Given the description of an element on the screen output the (x, y) to click on. 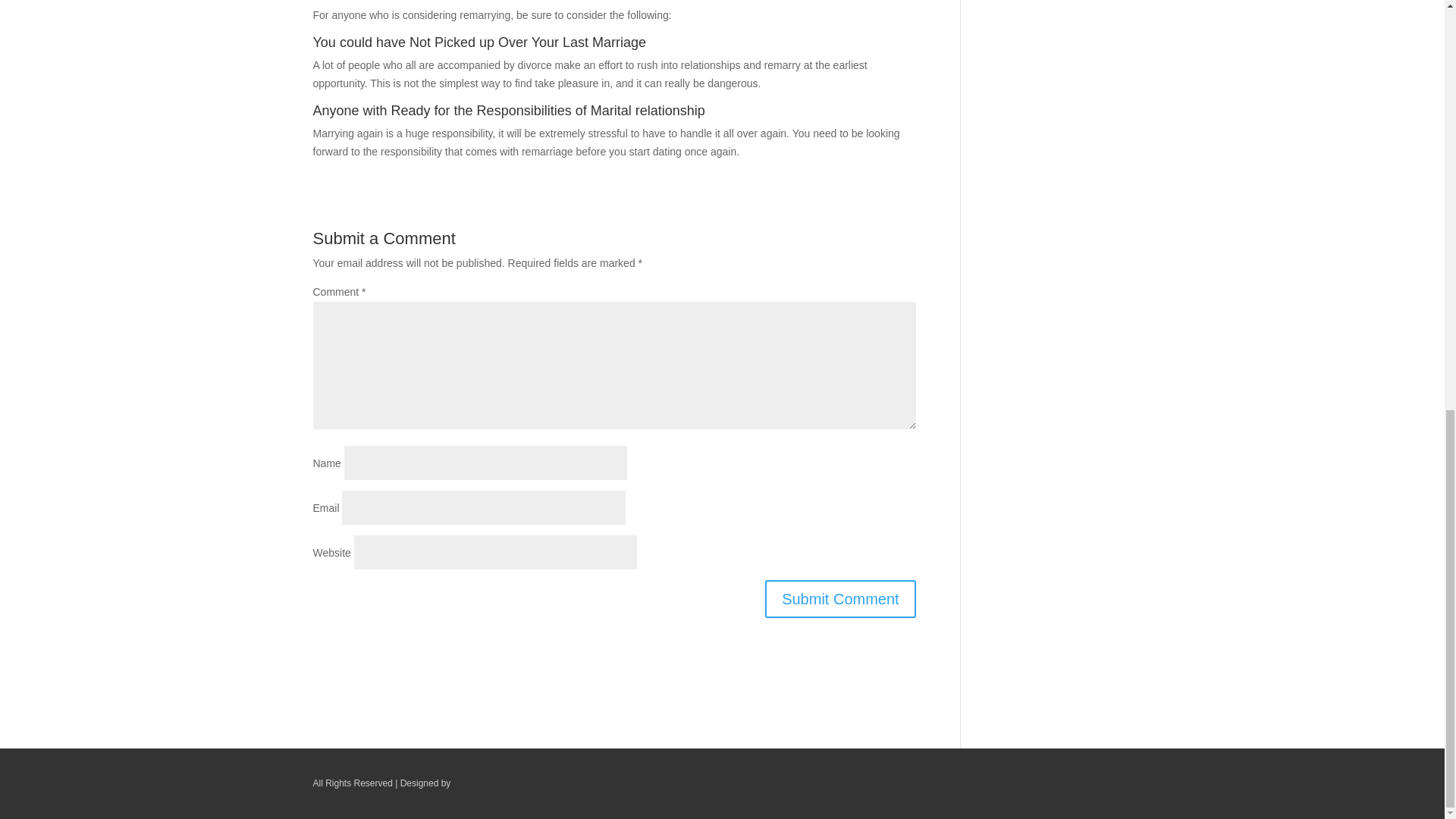
wp-numero-logo (504, 783)
Submit Comment (840, 598)
FB 2 icon (1119, 785)
Submit Comment (840, 598)
